Given the description of an element on the screen output the (x, y) to click on. 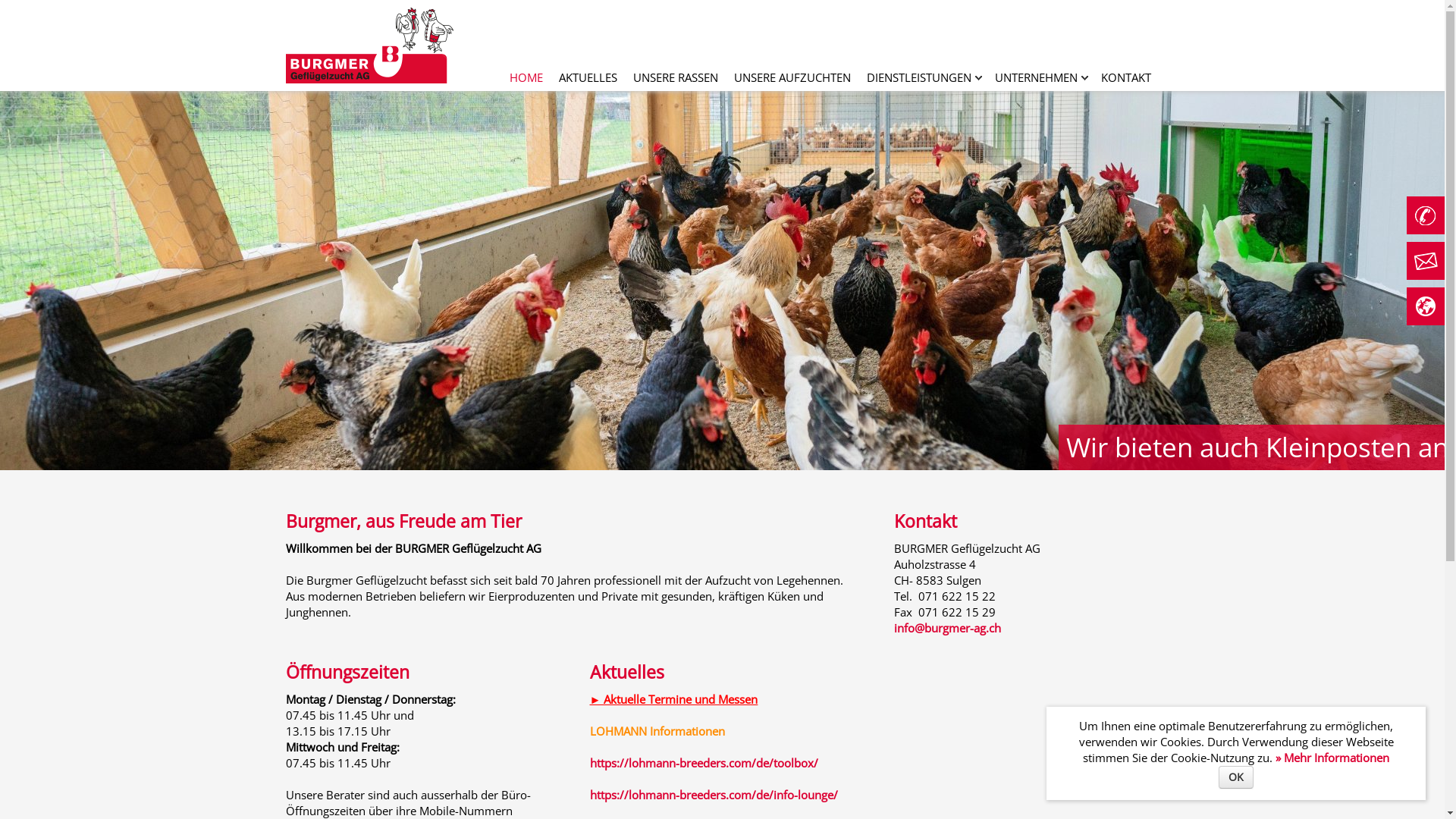
KONTAKT Element type: text (1126, 76)
info@burgmer-ag.ch Element type: text (946, 627)
UNTERNEHMEN Element type: text (1035, 76)
DIENSTLEISTUNGEN Element type: text (918, 76)
https://lohmann-breeders.com/de/info-lounge/ Element type: text (713, 794)
UNSERE AUFZUCHTEN Element type: text (792, 76)
AKTUELLES Element type: text (587, 76)
UNSERE RASSEN Element type: text (674, 76)
https://lohmann-breeders.com/de/toolbox/ Element type: text (703, 762)
OK Element type: text (1235, 776)
HOME Element type: text (525, 76)
